Given the description of an element on the screen output the (x, y) to click on. 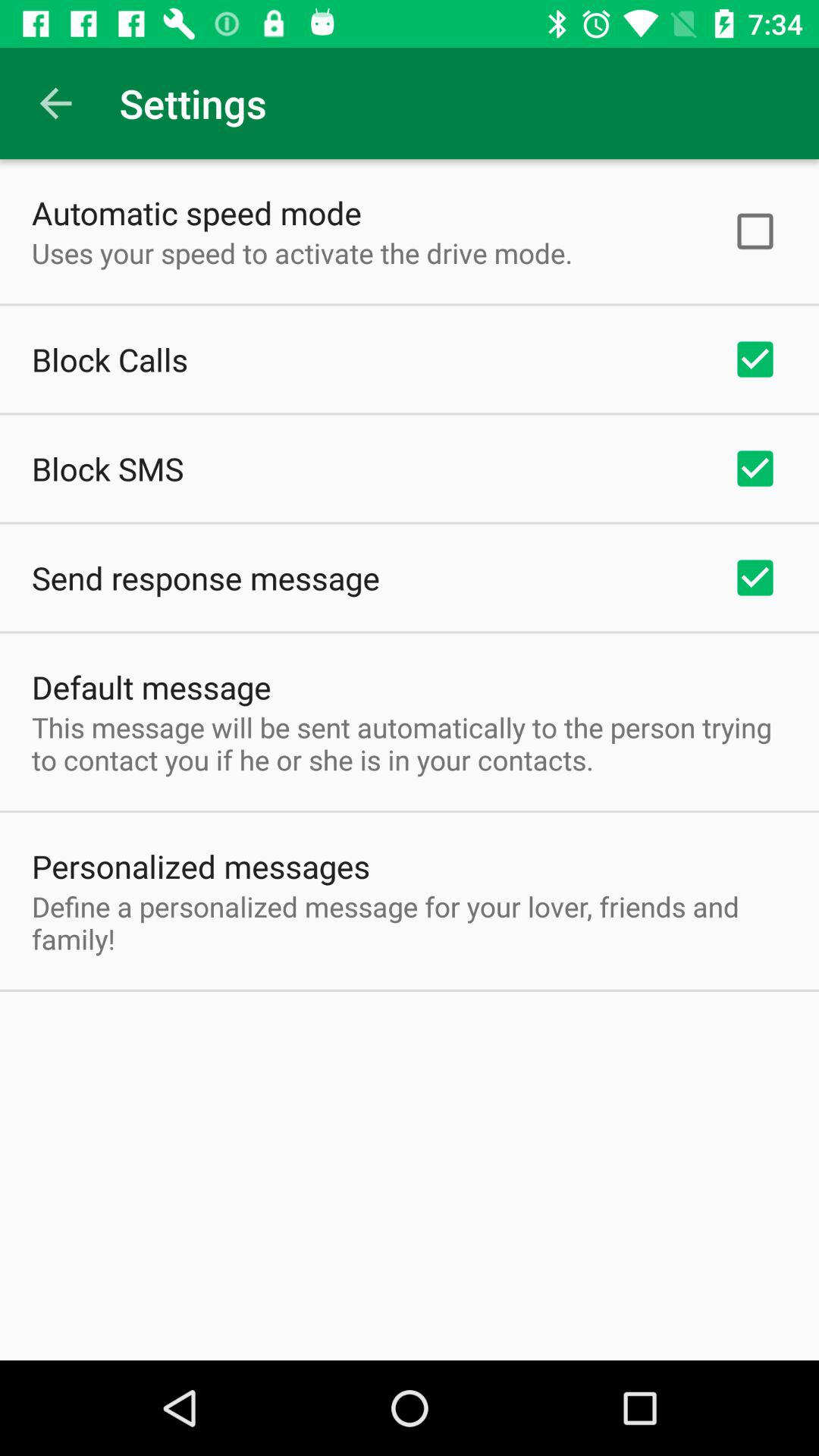
turn off the item above the block calls item (301, 252)
